Given the description of an element on the screen output the (x, y) to click on. 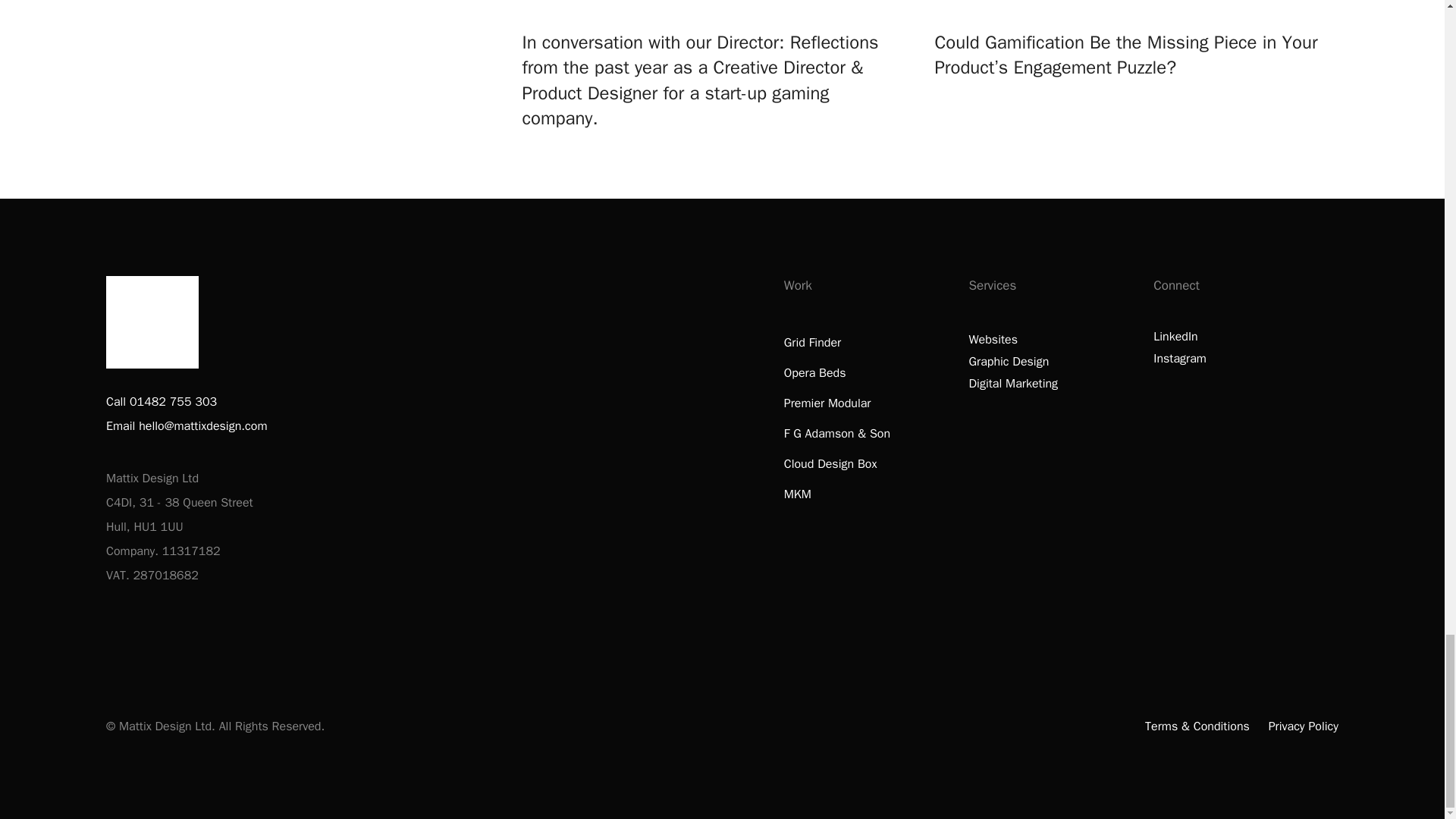
Opera Beds (814, 372)
Premier Modular (827, 403)
01482 755 303 (172, 401)
Grid Finder (812, 342)
